Given the description of an element on the screen output the (x, y) to click on. 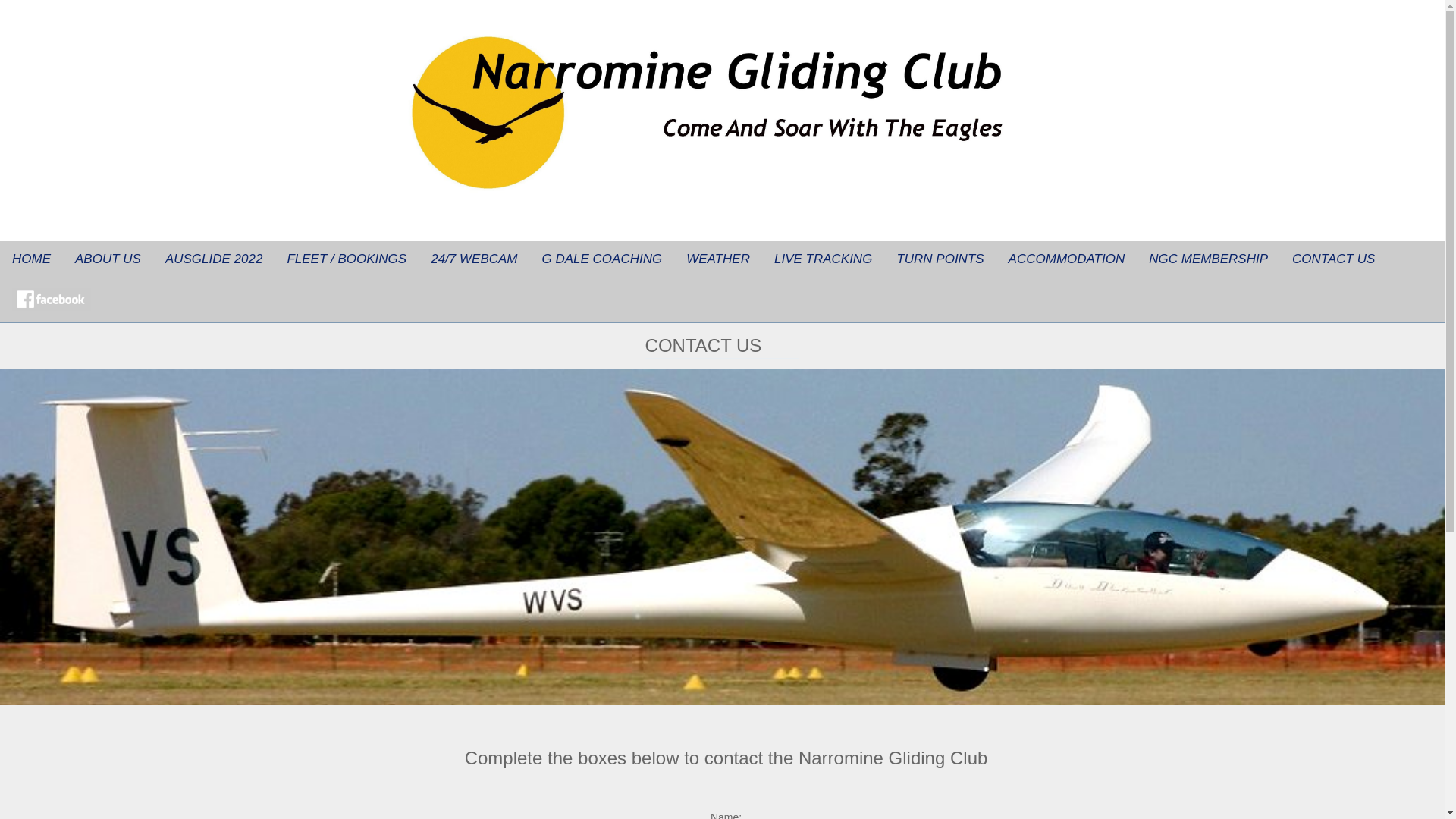
NGC MEMBERSHIP Element type: text (1208, 259)
AUSGLIDE 2022 Element type: text (214, 259)
ACCOMMODATION Element type: text (1066, 259)
CONTACT US Element type: text (1333, 259)
G DALE COACHING Element type: text (601, 259)
24/7 WEBCAM Element type: text (473, 259)
FLEET / BOOKINGS Element type: text (346, 259)
TURN POINTS Element type: text (939, 259)
WEATHER Element type: text (718, 259)
HOME Element type: text (31, 259)
ABOUT US Element type: text (107, 259)
LIVE TRACKING Element type: text (823, 259)
